Given the description of an element on the screen output the (x, y) to click on. 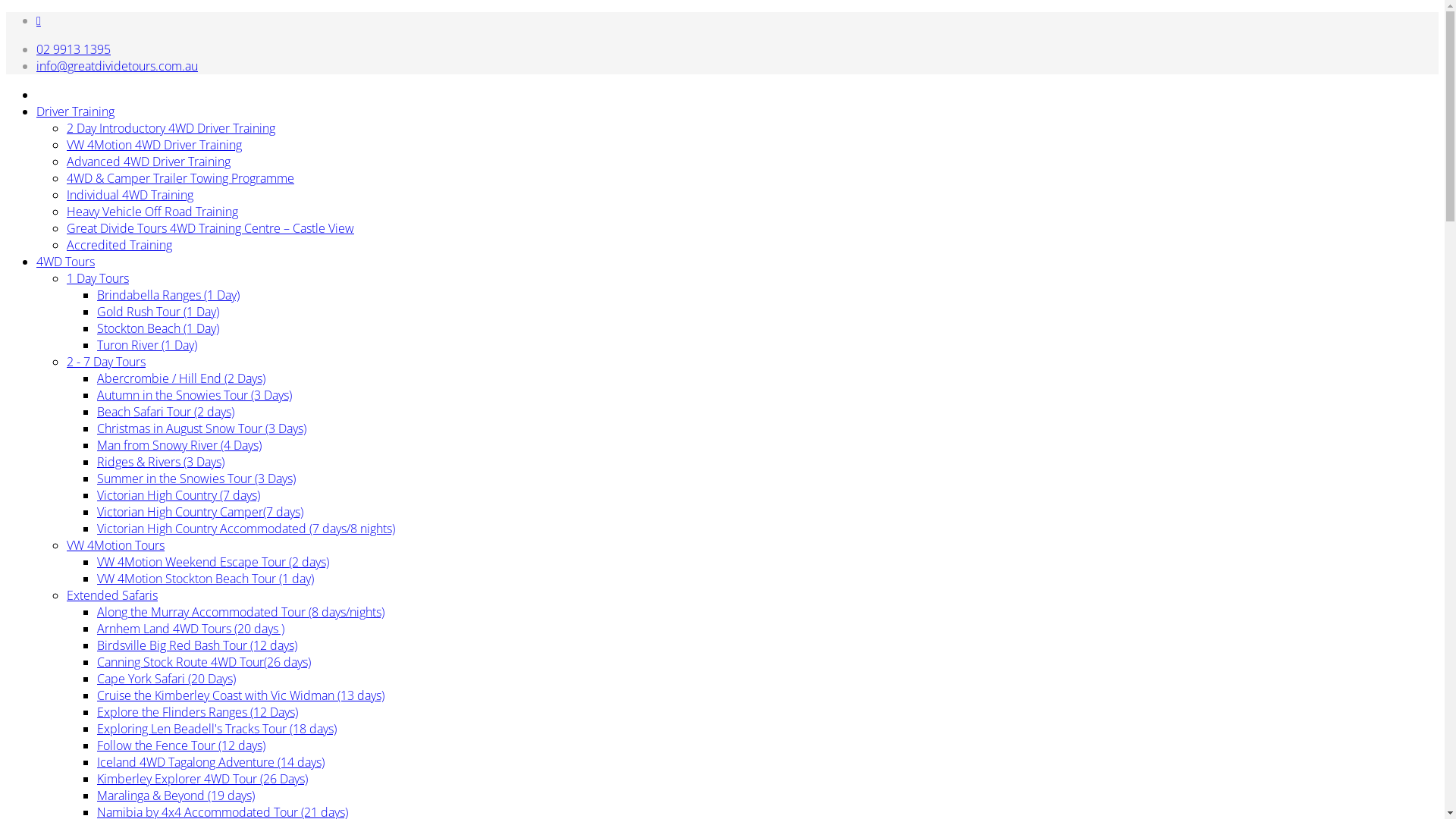
1 Day Tours Element type: text (97, 277)
VW 4Motion Weekend Escape Tour (2 days) Element type: text (213, 561)
Extended Safaris Element type: text (111, 594)
Beach Safari Tour (2 days) Element type: text (165, 411)
2 - 7 Day Tours Element type: text (105, 361)
Kimberley Explorer 4WD Tour (26 Days) Element type: text (202, 778)
Turon River (1 Day) Element type: text (147, 344)
Along the Murray Accommodated Tour (8 days/nights) Element type: text (240, 611)
Advanced 4WD Driver Training Element type: text (148, 161)
Individual 4WD Training Element type: text (129, 194)
2 Day Introductory 4WD Driver Training Element type: text (170, 127)
Explore the Flinders Ranges (12 Days) Element type: text (197, 711)
Stockton Beach (1 Day) Element type: text (158, 328)
Follow the Fence Tour (12 days) Element type: text (181, 745)
Accredited Training Element type: text (119, 244)
Exploring Len Beadell's Tracks Tour (18 days) Element type: text (216, 728)
Driver Training Element type: text (75, 111)
Abercrombie / Hill End (2 Days) Element type: text (181, 378)
Victorian High Country Camper(7 days) Element type: text (200, 511)
Arnhem Land 4WD Tours (20 days ) Element type: text (190, 628)
02 9913 1395 Element type: text (73, 48)
Victorian High Country (7 days) Element type: text (178, 494)
VW 4Motion Tours Element type: text (115, 544)
Heavy Vehicle Off Road Training Element type: text (152, 211)
4WD Tours Element type: text (65, 261)
Summer in the Snowies Tour (3 Days) Element type: text (196, 478)
Cape York Safari (20 Days) Element type: text (166, 678)
Ridges & Rivers (3 Days) Element type: text (160, 461)
Victorian High Country Accommodated (7 days/8 nights) Element type: text (246, 528)
Gold Rush Tour (1 Day) Element type: text (158, 311)
info@greatdividetours.com.au Element type: text (116, 65)
VW 4Motion 4WD Driver Training Element type: text (153, 144)
Christmas in August Snow Tour (3 Days) Element type: text (201, 428)
Cruise the Kimberley Coast with Vic Widman (13 days) Element type: text (240, 695)
Brindabella Ranges (1 Day) Element type: text (168, 294)
Autumn in the Snowies Tour (3 Days) Element type: text (194, 394)
Maralinga & Beyond (19 days) Element type: text (175, 795)
Canning Stock Route 4WD Tour(26 days) Element type: text (203, 661)
4WD & Camper Trailer Towing Programme Element type: text (180, 177)
Iceland 4WD Tagalong Adventure (14 days) Element type: text (210, 761)
Birdsville Big Red Bash Tour (12 days) Element type: text (197, 645)
VW 4Motion Stockton Beach Tour (1 day) Element type: text (205, 578)
Man from Snowy River (4 Days) Element type: text (179, 444)
